Given the description of an element on the screen output the (x, y) to click on. 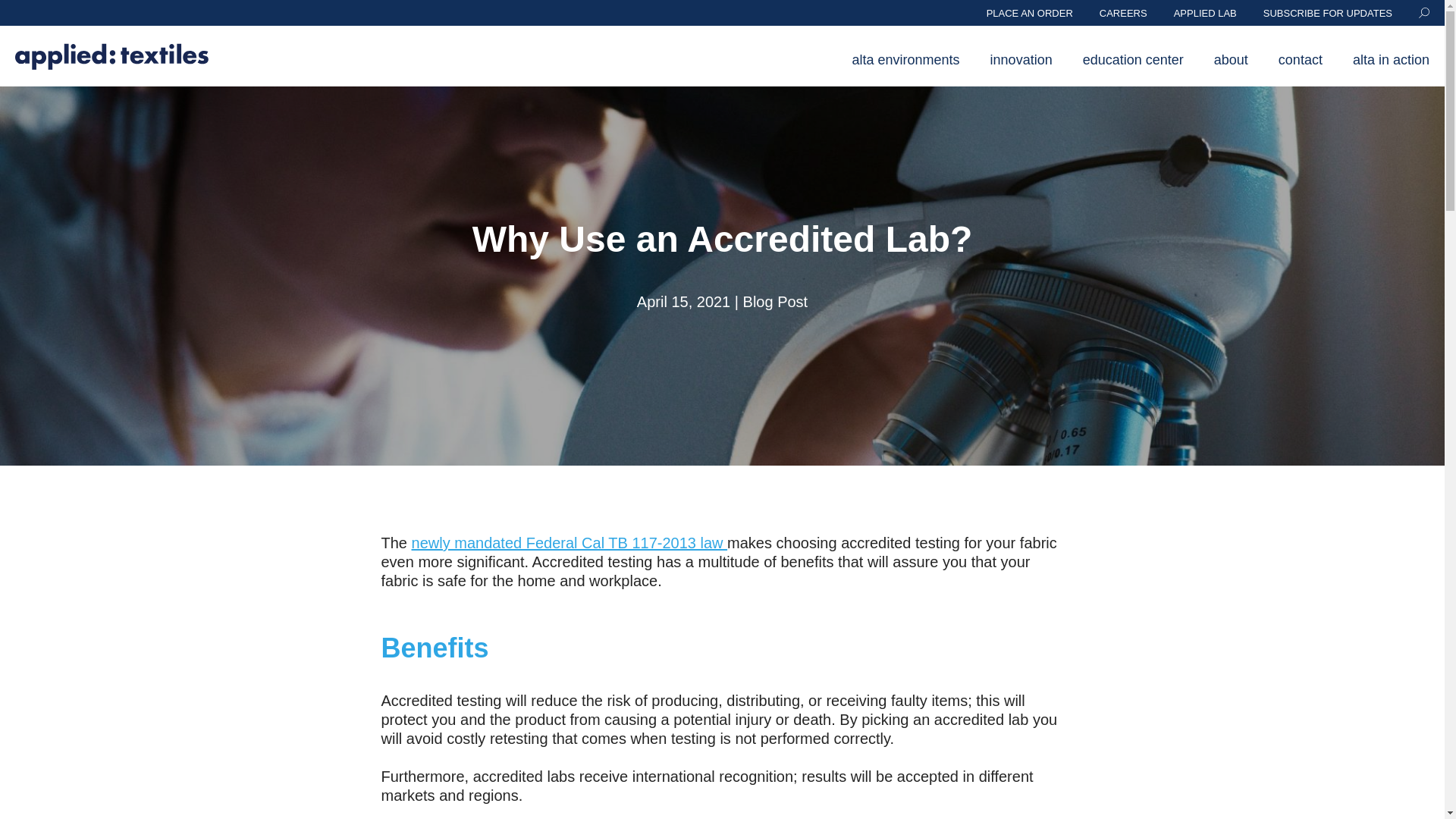
CAREERS (1123, 12)
alta environments (903, 71)
alta in action (1390, 71)
innovation (1020, 71)
SUBSCRIBE FOR UPDATES (1327, 12)
PLACE AN ORDER (1030, 12)
APPLIED LAB (1204, 12)
education center (1131, 71)
contact (1299, 71)
about (1229, 71)
